Given the description of an element on the screen output the (x, y) to click on. 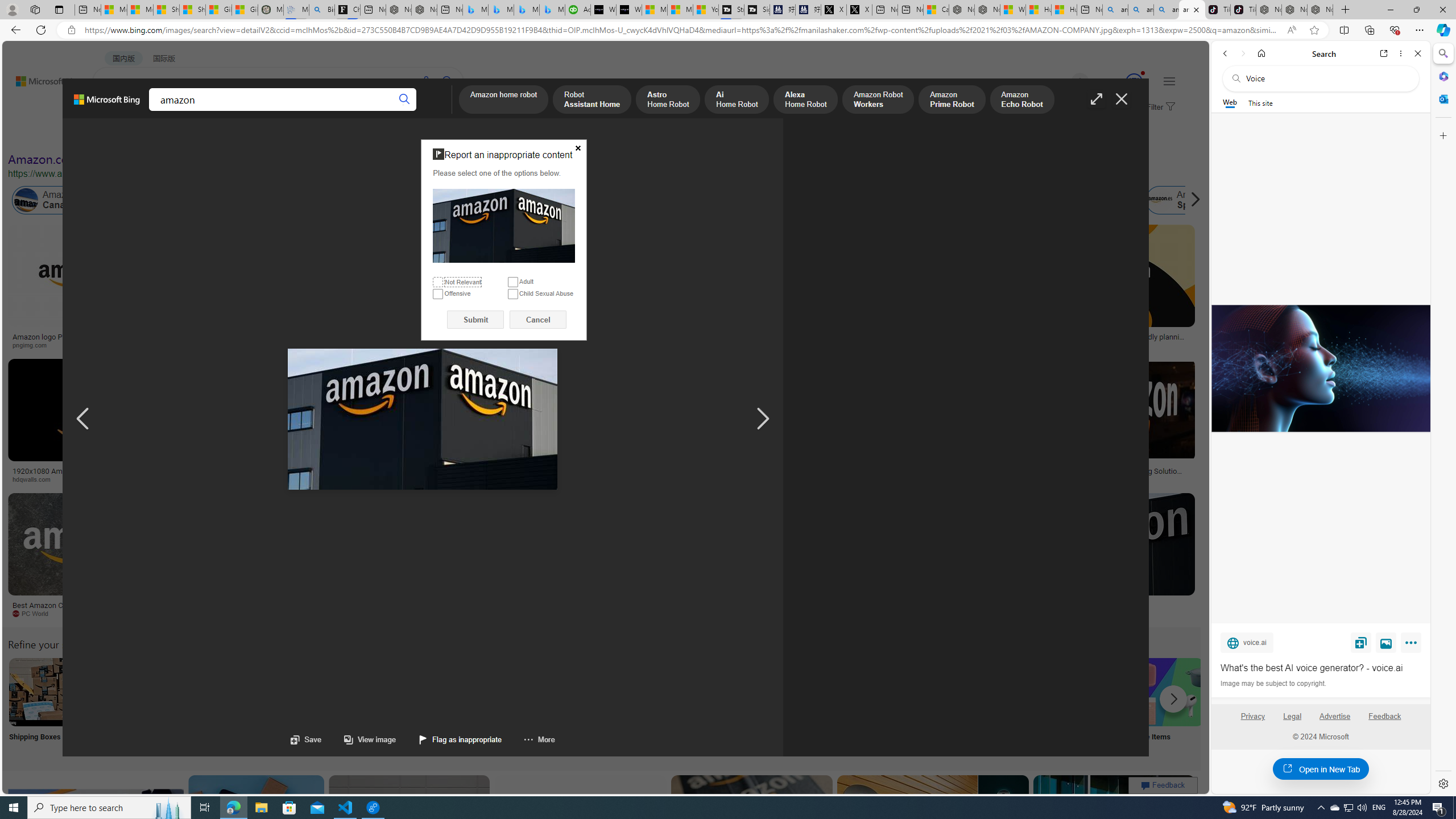
Clip Art (192, 706)
Amazon Prime Membership (801, 199)
Kindle Paperwhite Case (673, 298)
Amazon Mini TV (794, 691)
Open in New Tab (1321, 768)
Microsoft Bing Travel - Stays in Bangkok, Bangkok, Thailand (500, 9)
Sign My Account (718, 706)
theverge.com (1068, 344)
Amazon Sale Items (1169, 691)
Amazon Log into My Account (268, 691)
Privacy (1252, 715)
IMAGES (156, 112)
MORE (443, 111)
Flag as inappropriate (460, 739)
